Given the description of an element on the screen output the (x, y) to click on. 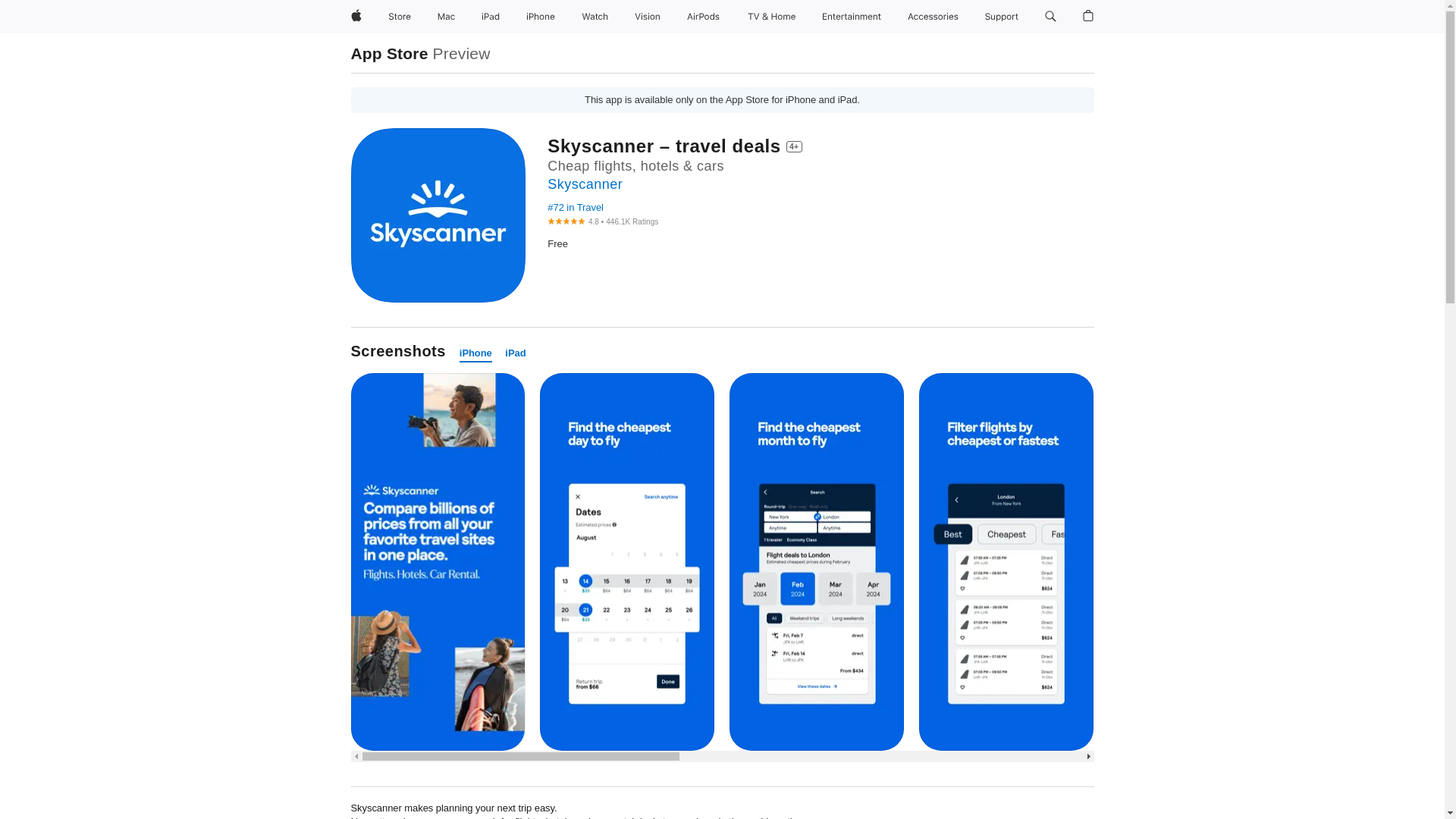
Store (398, 16)
